Given the description of an element on the screen output the (x, y) to click on. 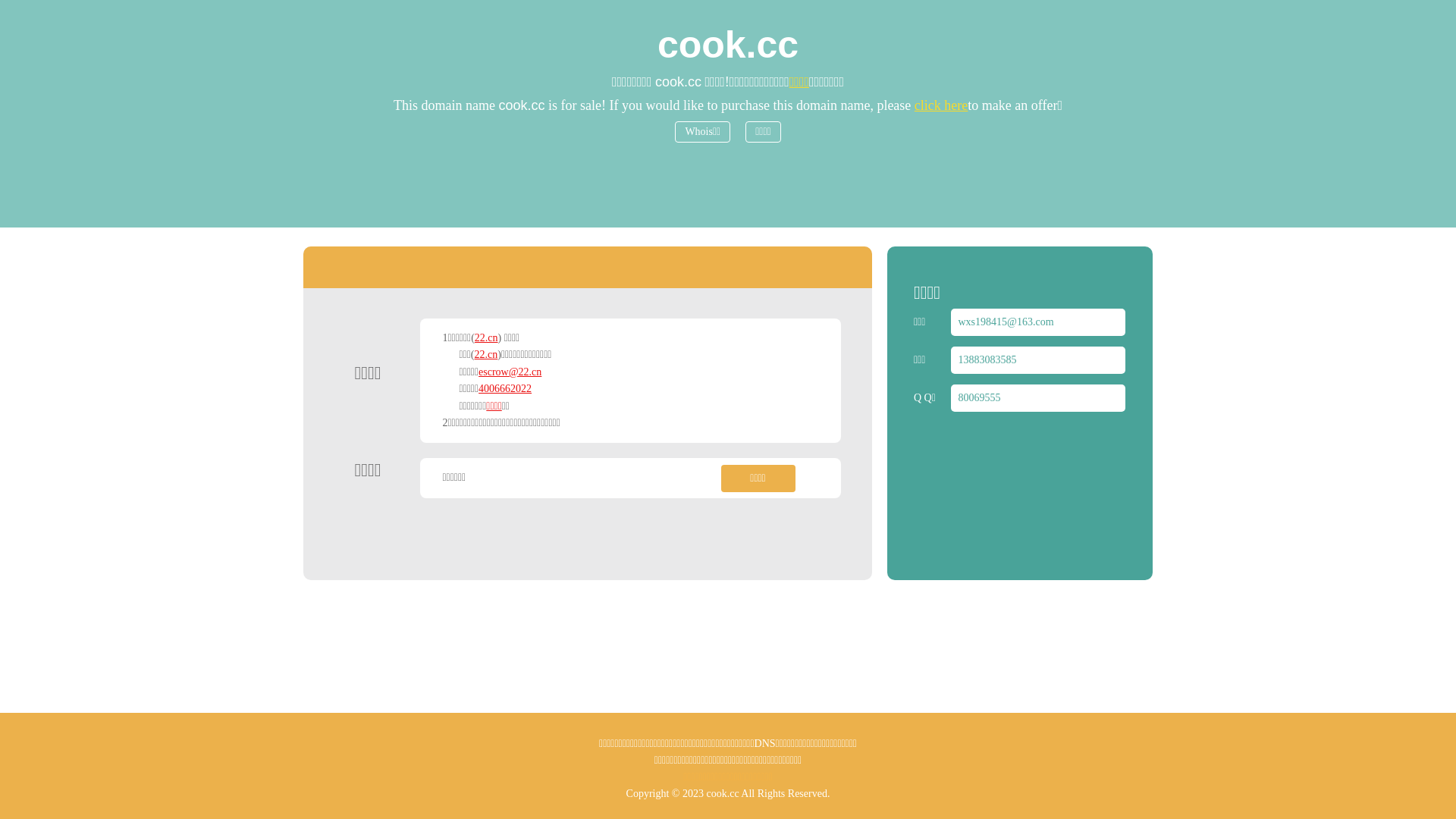
22.cn Element type: text (486, 337)
click here Element type: text (940, 104)
escrow@22.cn Element type: text (509, 371)
4006662022 Element type: text (504, 388)
22.cn Element type: text (486, 354)
